Given the description of an element on the screen output the (x, y) to click on. 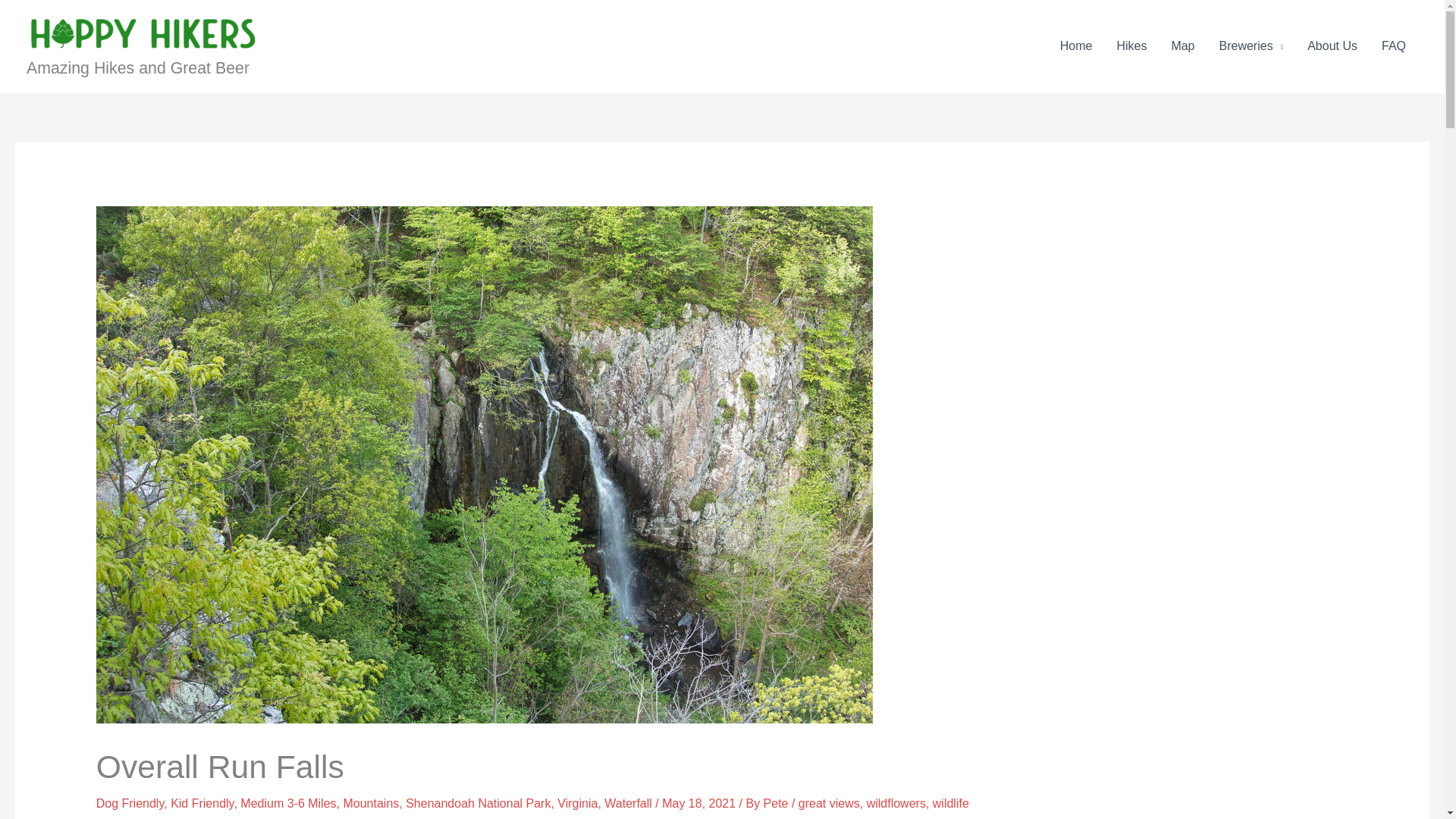
Dog Friendly (130, 802)
Kid Friendly (201, 802)
FAQ (1394, 46)
About Us (1332, 46)
View all posts by Pete (777, 802)
great views (828, 802)
Mountains (370, 802)
Waterfall (628, 802)
Map (1182, 46)
Virginia (576, 802)
Pete (777, 802)
wildflowers (896, 802)
Shenandoah National Park (478, 802)
Medium 3-6 Miles (288, 802)
Home (1076, 46)
